Given the description of an element on the screen output the (x, y) to click on. 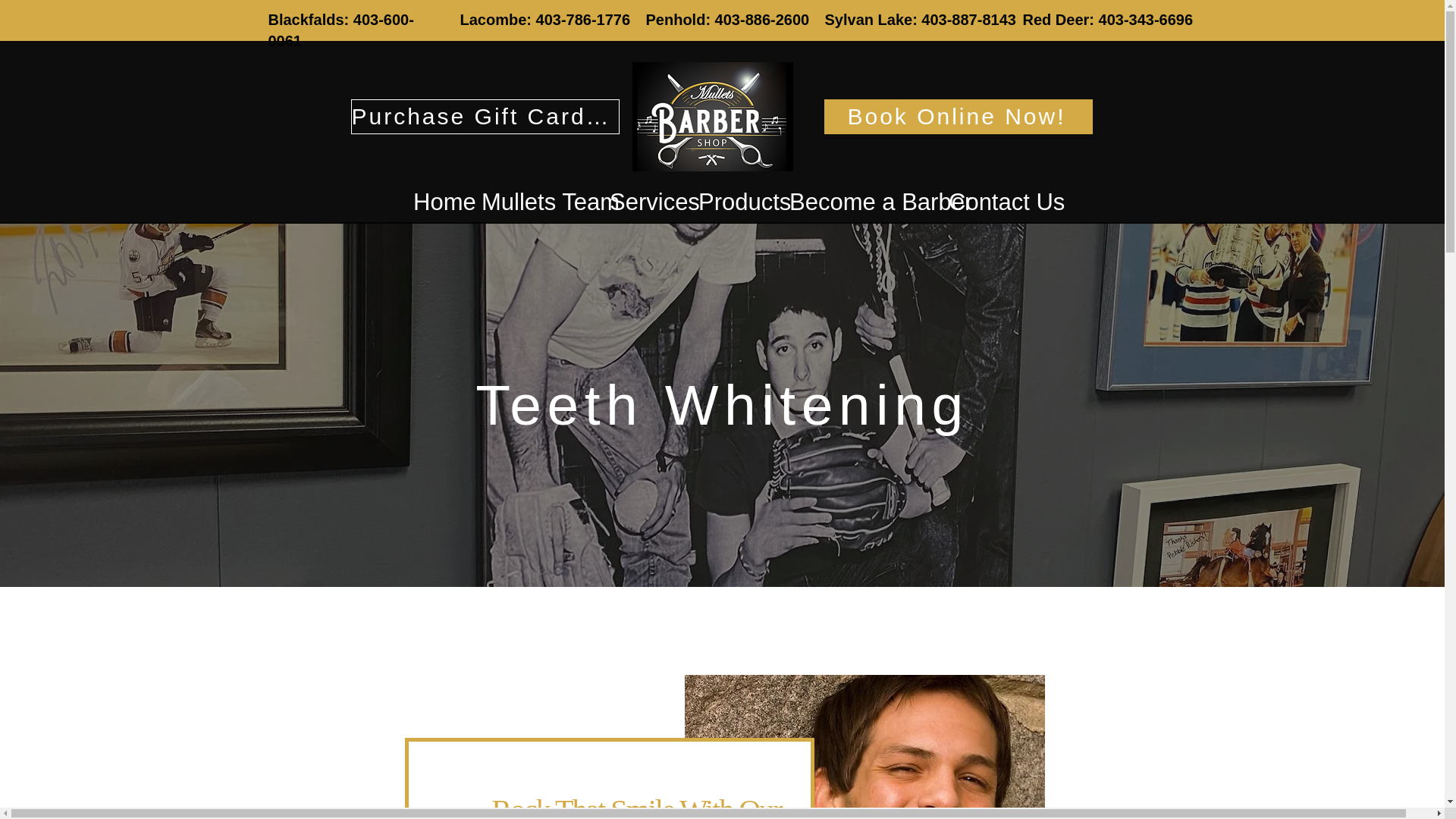
403-887-8143 (968, 19)
Purchase Gift Cards online (484, 116)
Home (435, 201)
Become a Barber (857, 201)
403-343-6696 (1146, 19)
403-600-0061 (340, 30)
Book Online Now! (958, 116)
403-886-2600 (761, 19)
403-786-1776 (582, 19)
Mullets Team (534, 201)
